Given the description of an element on the screen output the (x, y) to click on. 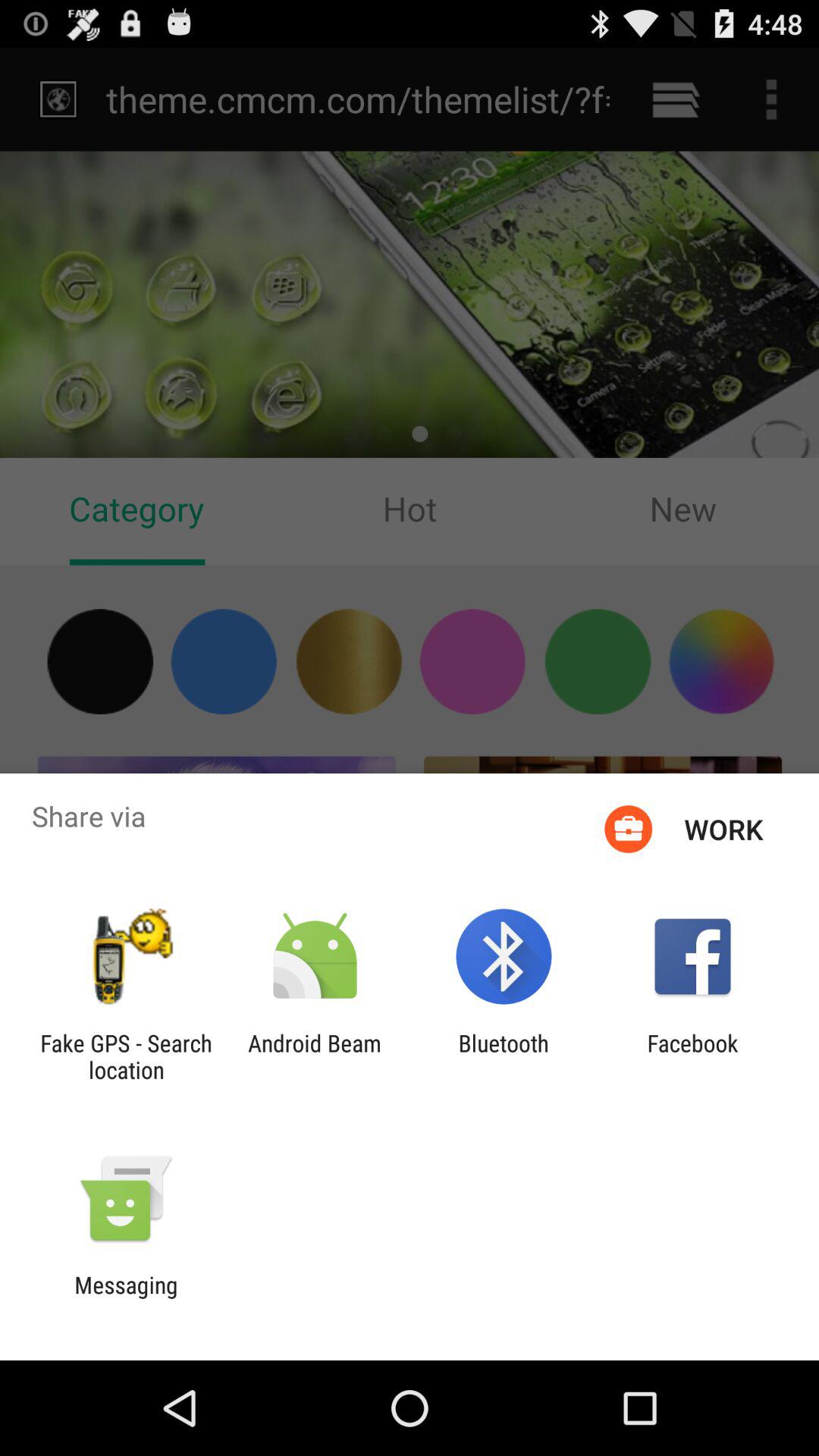
launch app next to the android beam app (503, 1056)
